Given the description of an element on the screen output the (x, y) to click on. 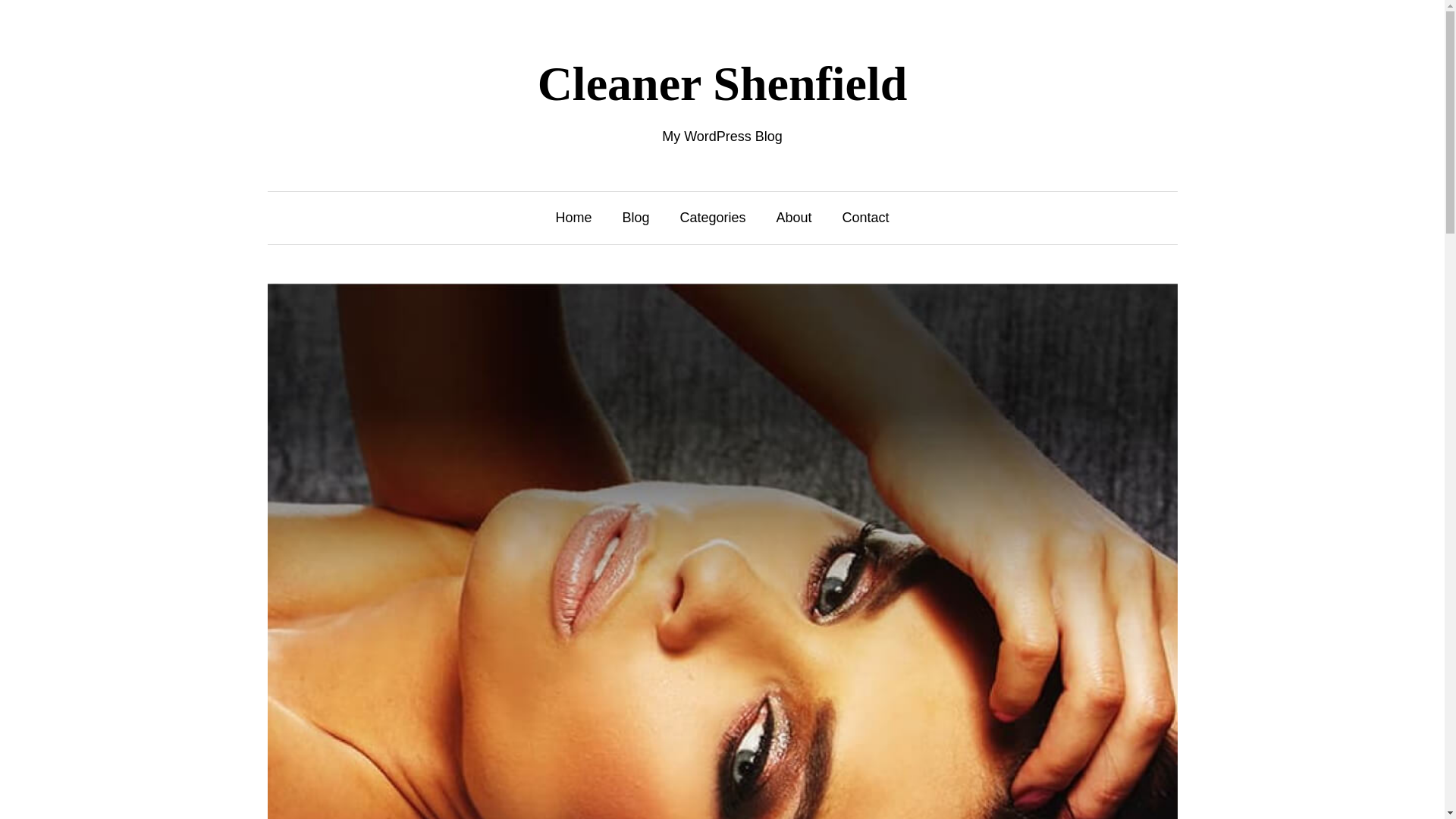
Home (572, 218)
About (794, 218)
Cleaner Shenfield (722, 83)
Categories (712, 218)
Blog (635, 218)
Contact (866, 218)
